Given the description of an element on the screen output the (x, y) to click on. 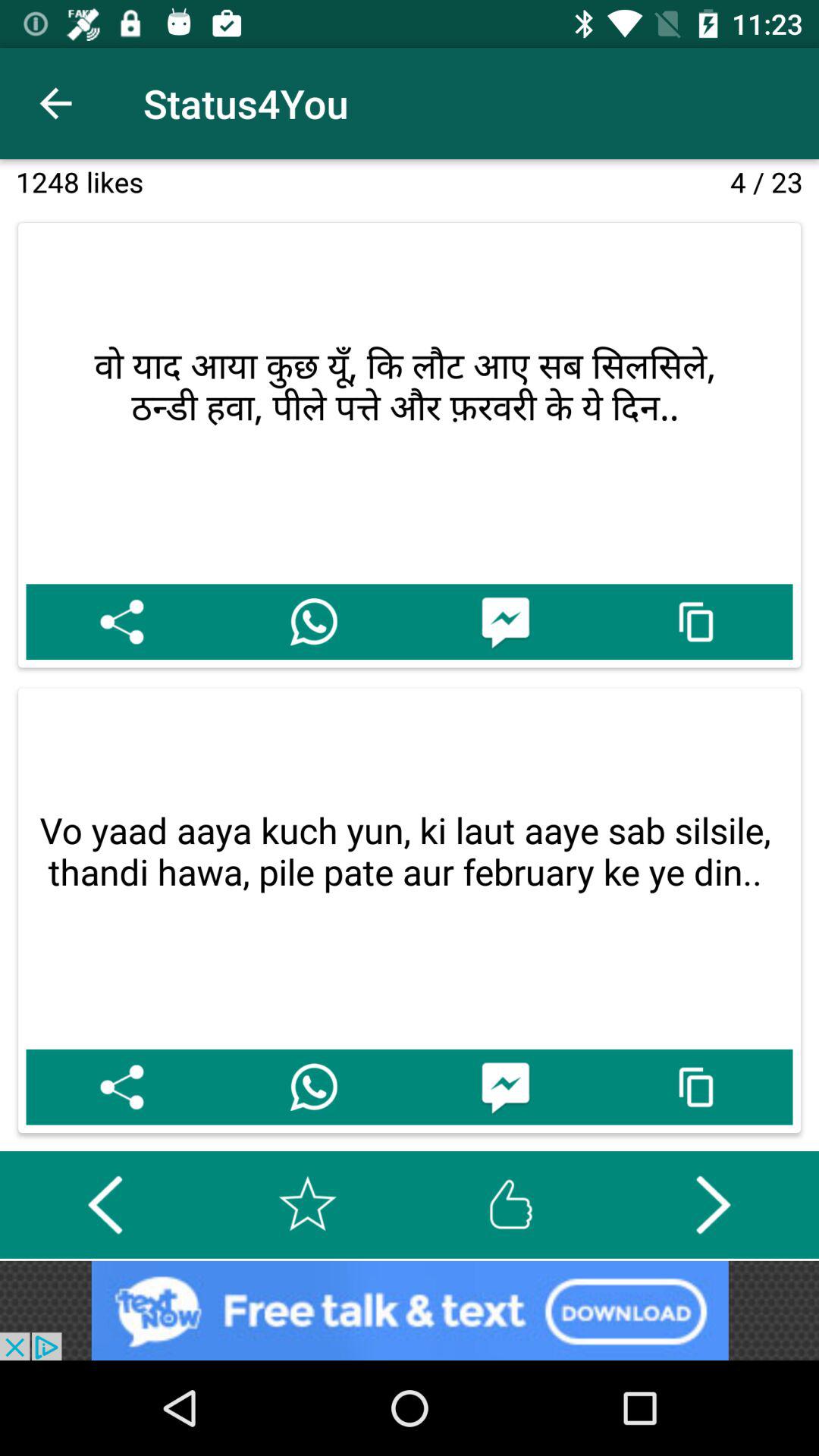
share the page (121, 1086)
